Given the description of an element on the screen output the (x, y) to click on. 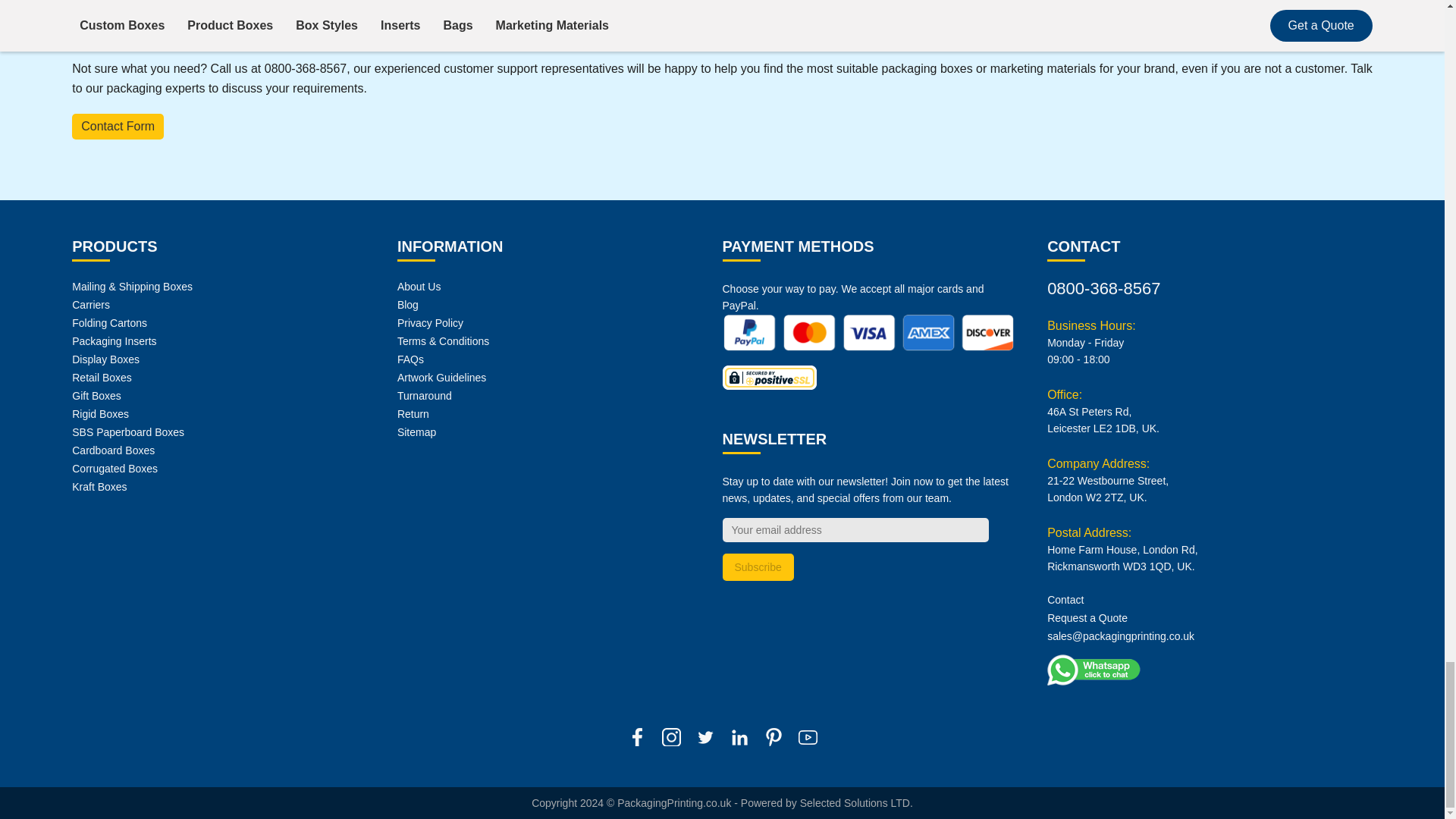
Display Boxes (105, 358)
Carriers (90, 304)
Packaging Inserts (113, 340)
Folding Cartons (109, 322)
Retail Boxes (101, 377)
Rigid Boxes (100, 413)
SBS Paperboard Boxes (127, 431)
Contact Form (117, 126)
Gift Boxes (95, 395)
